Given the description of an element on the screen output the (x, y) to click on. 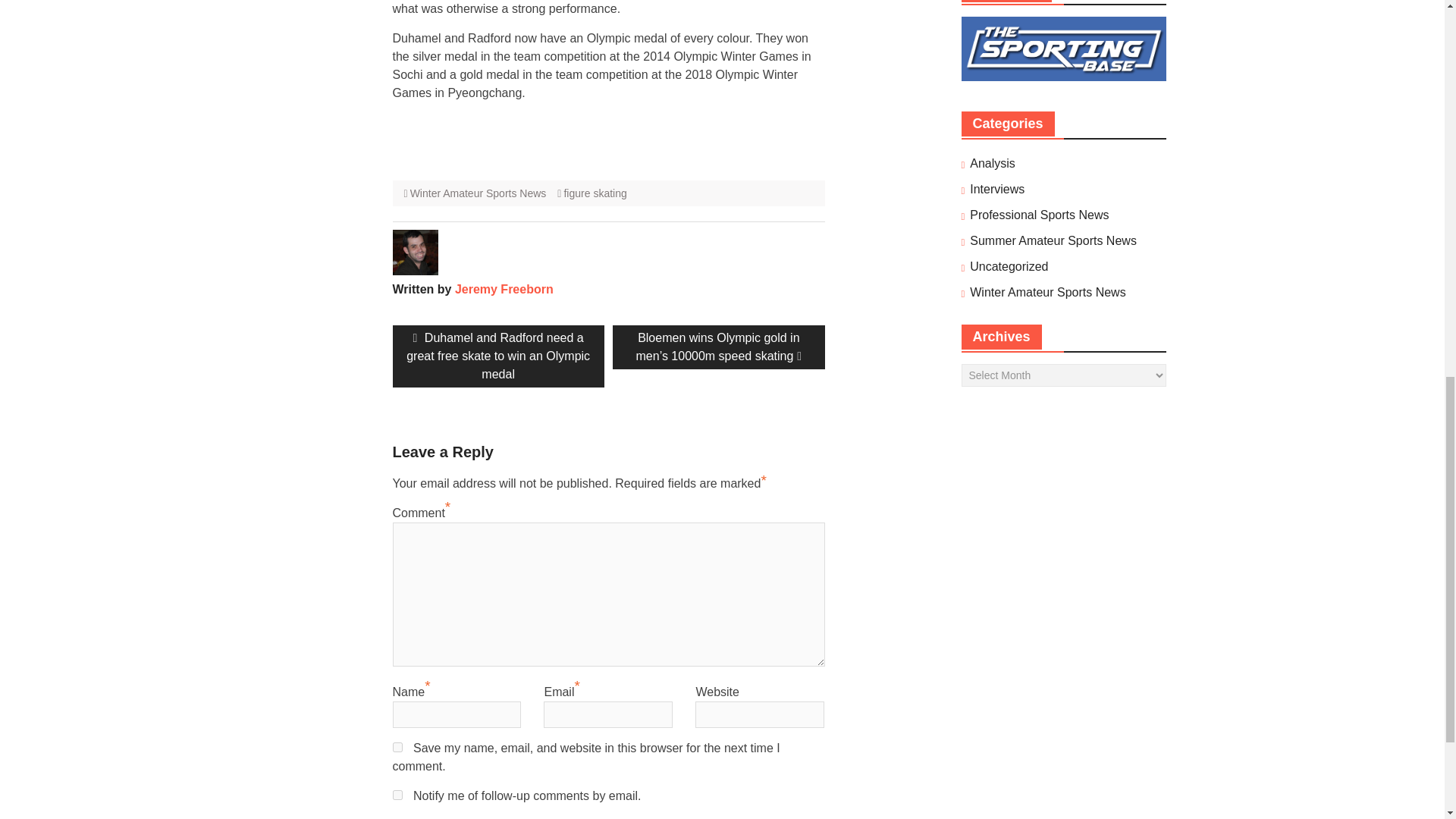
yes (398, 747)
Posts by Jeremy Freeborn (503, 288)
Summer Amateur Sports News (1053, 240)
Interviews (997, 189)
Uncategorized (1008, 266)
Professional Sports News (1038, 215)
Winter Amateur Sports News (1047, 292)
subscribe (398, 795)
Analysis (991, 163)
Jeremy Freeborn (503, 288)
Winter Amateur Sports News (478, 193)
figure skating (594, 193)
